Given the description of an element on the screen output the (x, y) to click on. 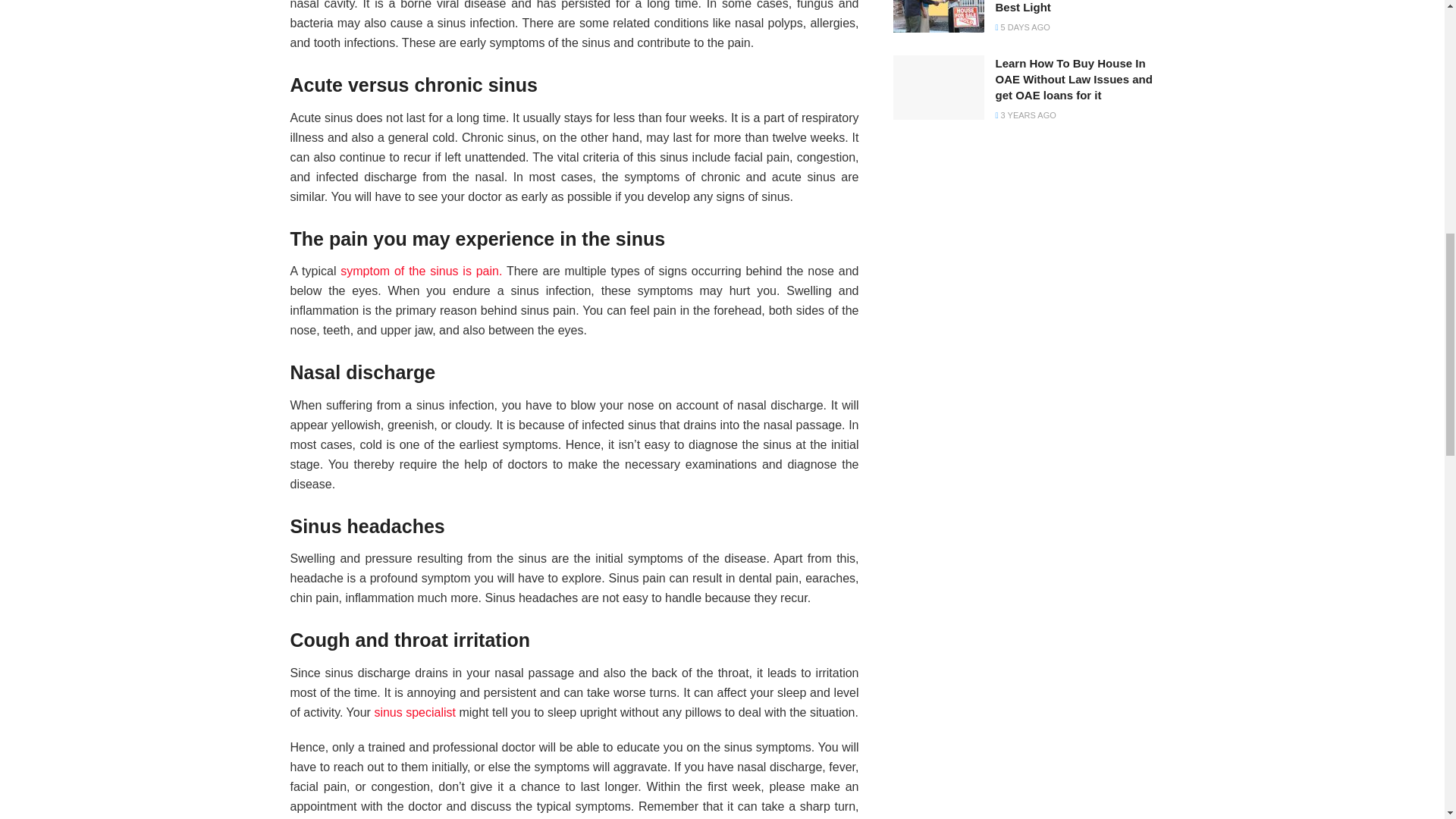
symptom of the sinus is pain. (421, 270)
